Given the description of an element on the screen output the (x, y) to click on. 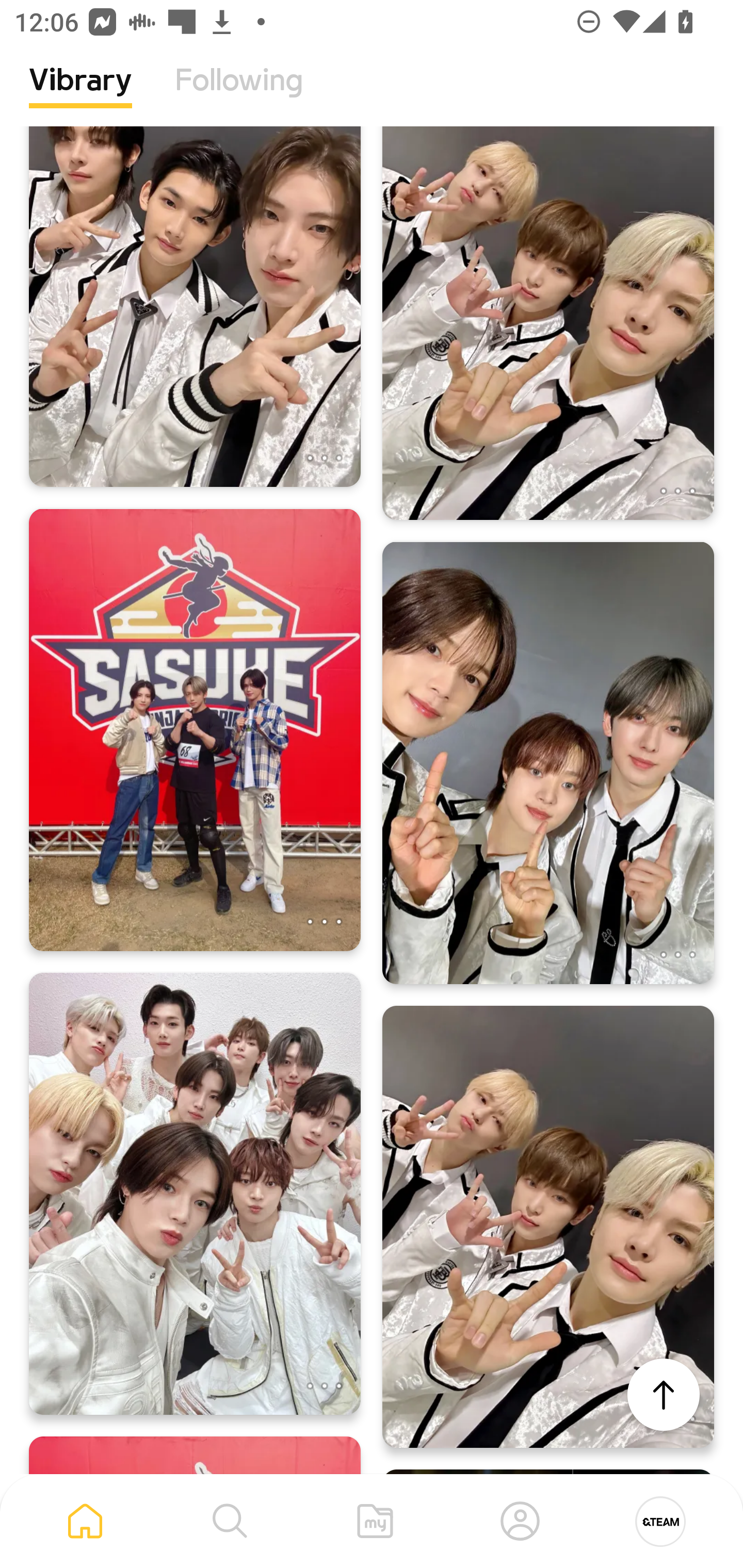
Vibrary (80, 95)
Following (239, 95)
